Given the description of an element on the screen output the (x, y) to click on. 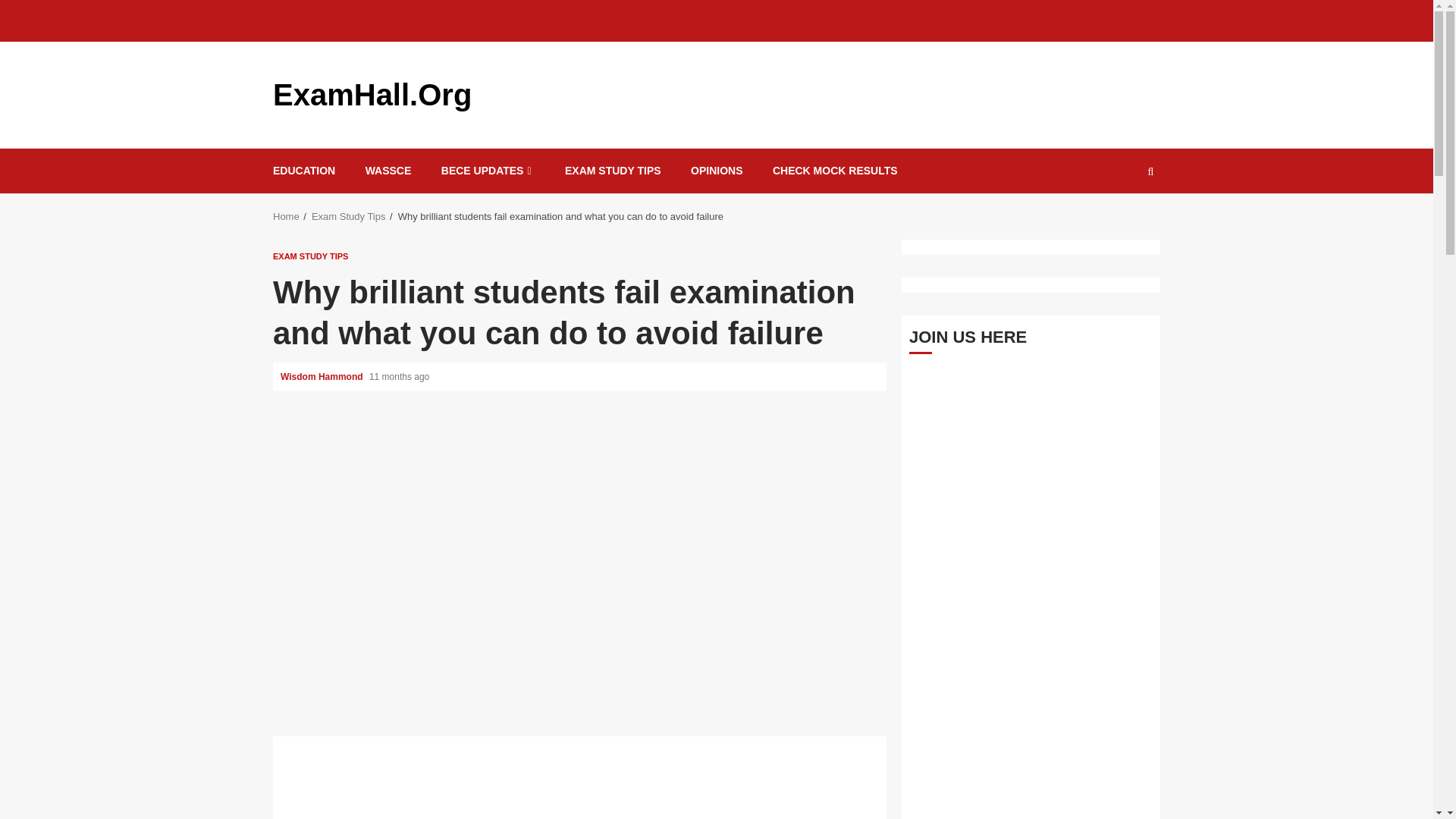
BECE UPDATES (488, 170)
WASSCE (388, 170)
Search (1121, 216)
ExamHall.Org (372, 94)
EDUCATION (303, 170)
OPINIONS (716, 170)
Exam Study Tips (348, 215)
EXAM STUDY TIPS (612, 170)
Home (286, 215)
CHECK MOCK RESULTS (835, 170)
